Given the description of an element on the screen output the (x, y) to click on. 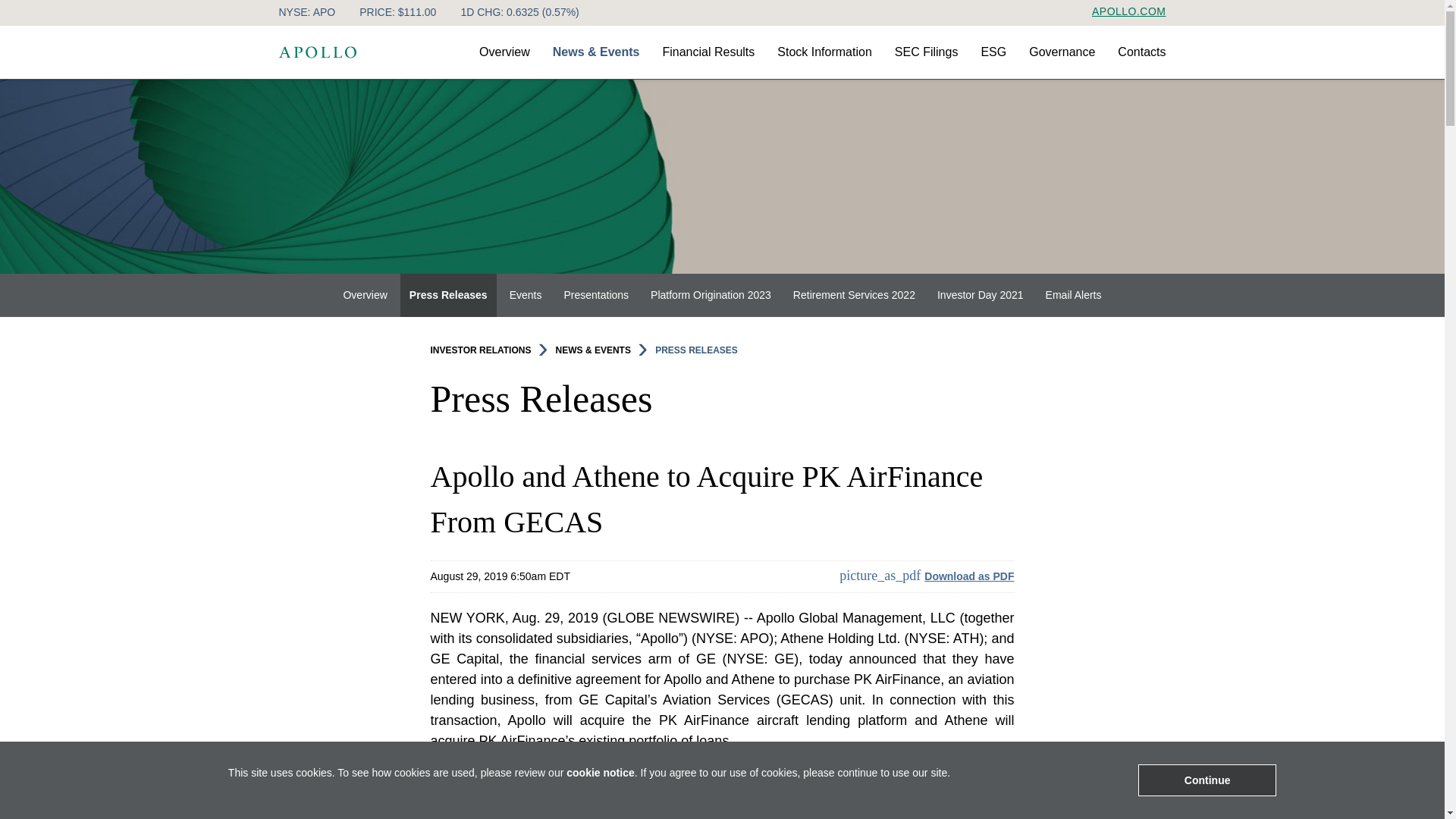
Presentations (595, 294)
Governance (1061, 60)
Email Alerts (1073, 294)
Retirement Services 2022 (854, 294)
Platform Origination 2023 (711, 294)
Overview (364, 294)
Financial Results (707, 60)
PDF: Apollo and Athene to Acquire PK AirFinance From GECAS (926, 576)
Investor Day 2021 (980, 294)
Events (525, 294)
